Given the description of an element on the screen output the (x, y) to click on. 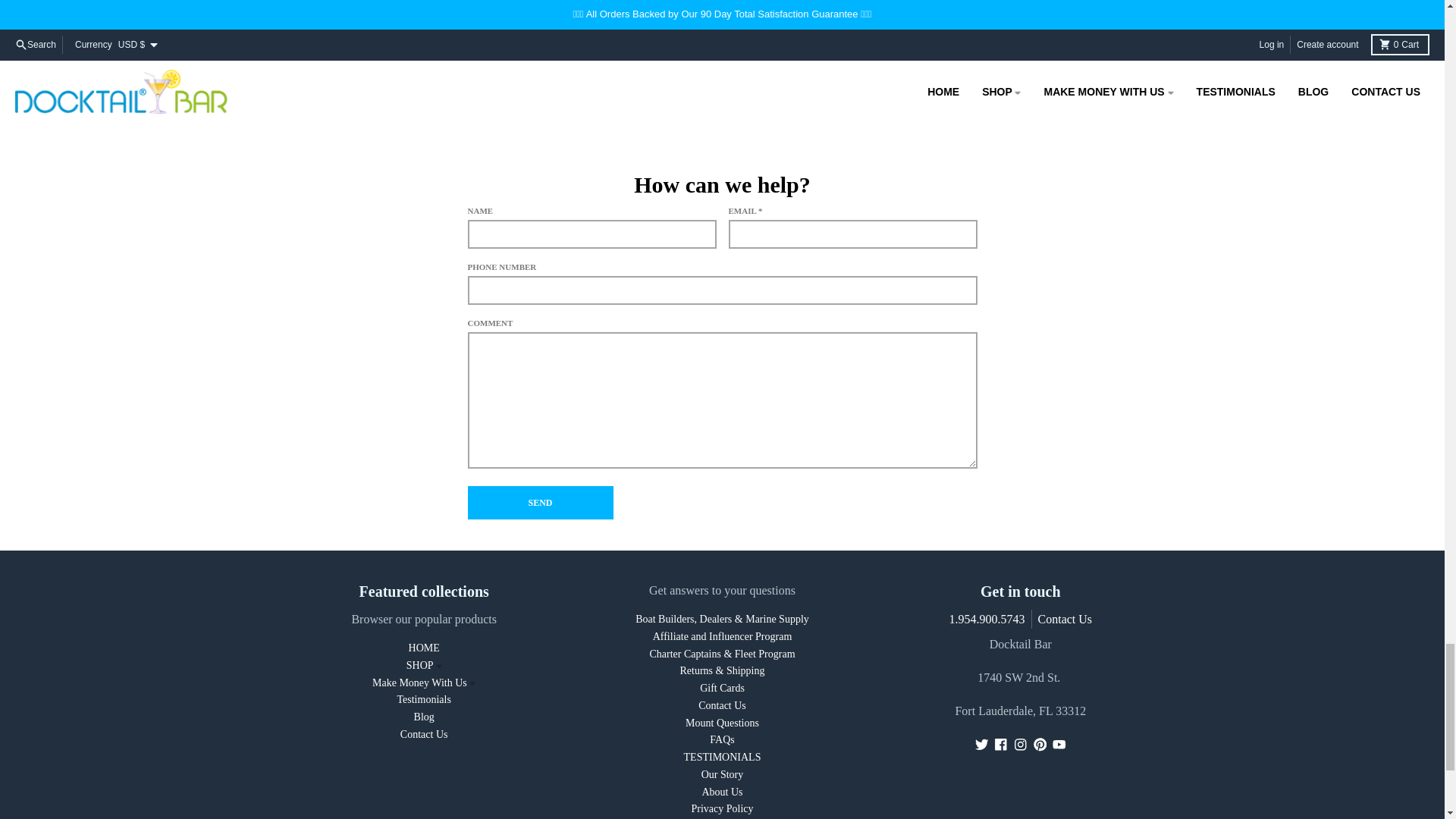
Pinterest - Docktail Bar (1039, 744)
Twitter - Docktail Bar (981, 744)
YouTube - Docktail Bar (1058, 744)
Facebook - Docktail Bar (1000, 744)
Instagram - Docktail Bar (1020, 744)
